Given the description of an element on the screen output the (x, y) to click on. 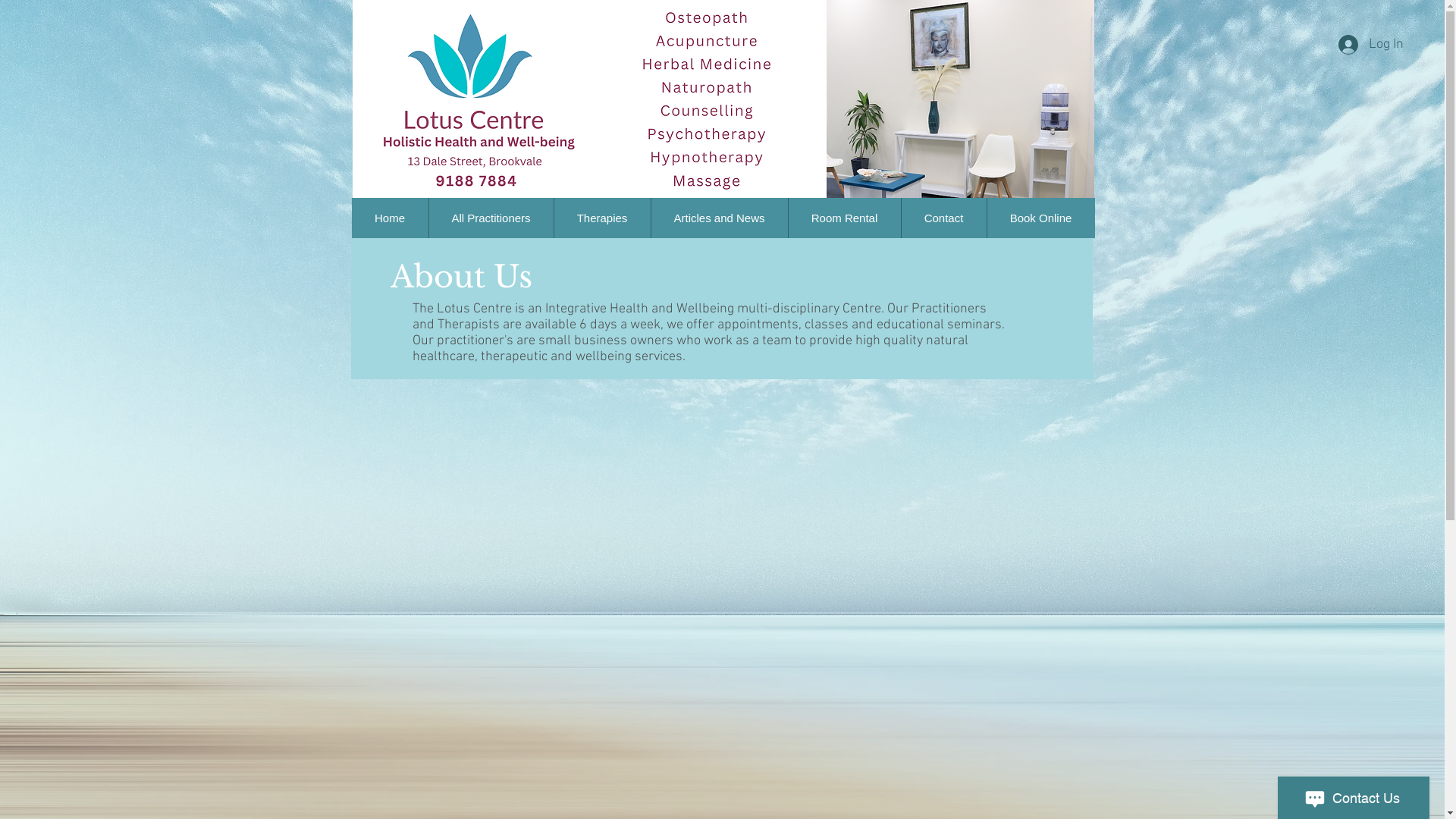
Articles and News Element type: text (718, 217)
Therapies Element type: text (601, 217)
All Practitioners Element type: text (489, 217)
Room Rental Element type: text (843, 217)
Contact Element type: text (943, 217)
Home Element type: text (389, 217)
Book Online Element type: text (1039, 217)
Log In Element type: text (1370, 44)
